Given the description of an element on the screen output the (x, y) to click on. 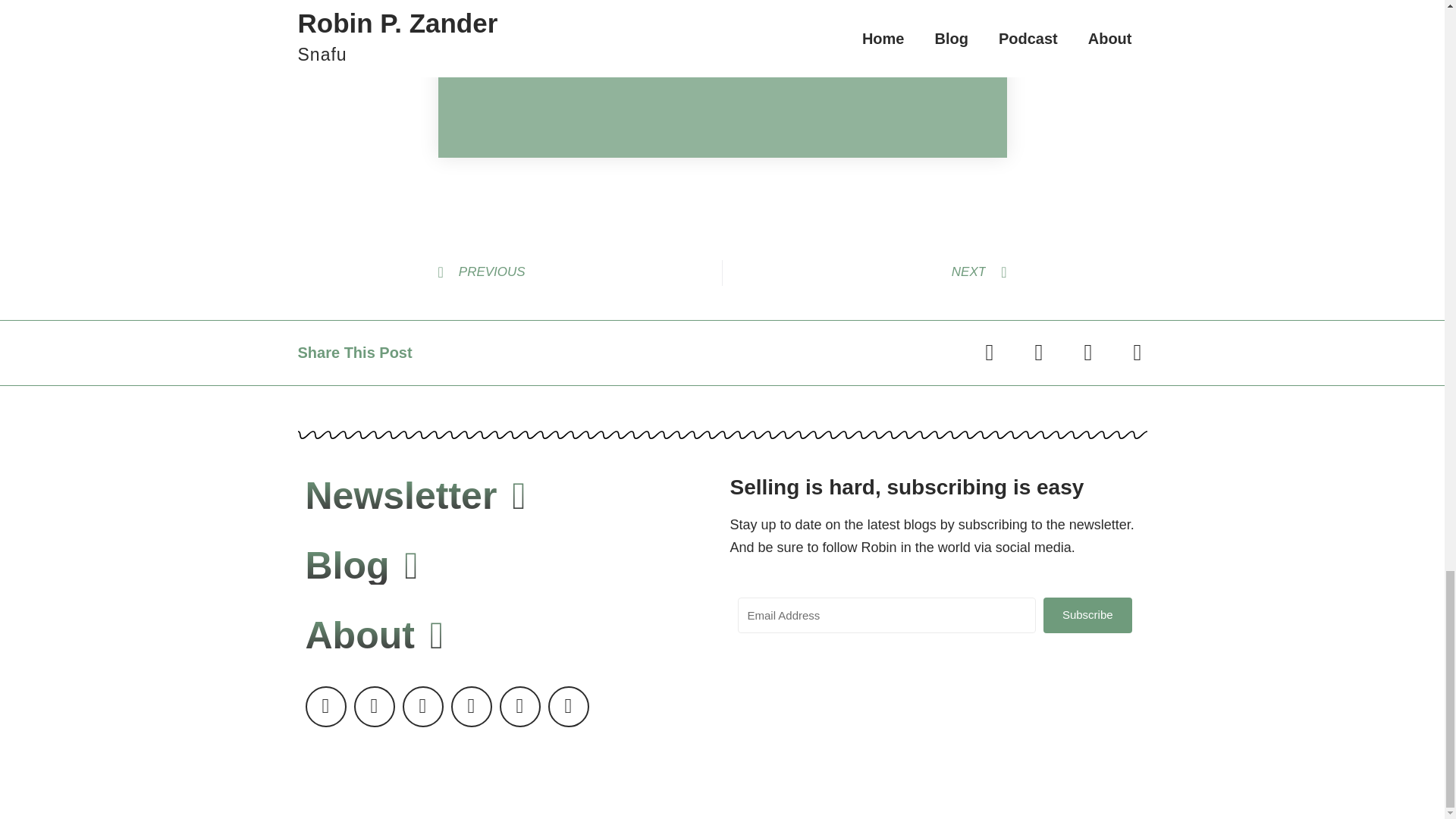
Subscribe (916, 44)
Blog (360, 565)
Newsletter (414, 495)
PREVIOUS (580, 272)
NEXT (864, 272)
About (374, 635)
